Given the description of an element on the screen output the (x, y) to click on. 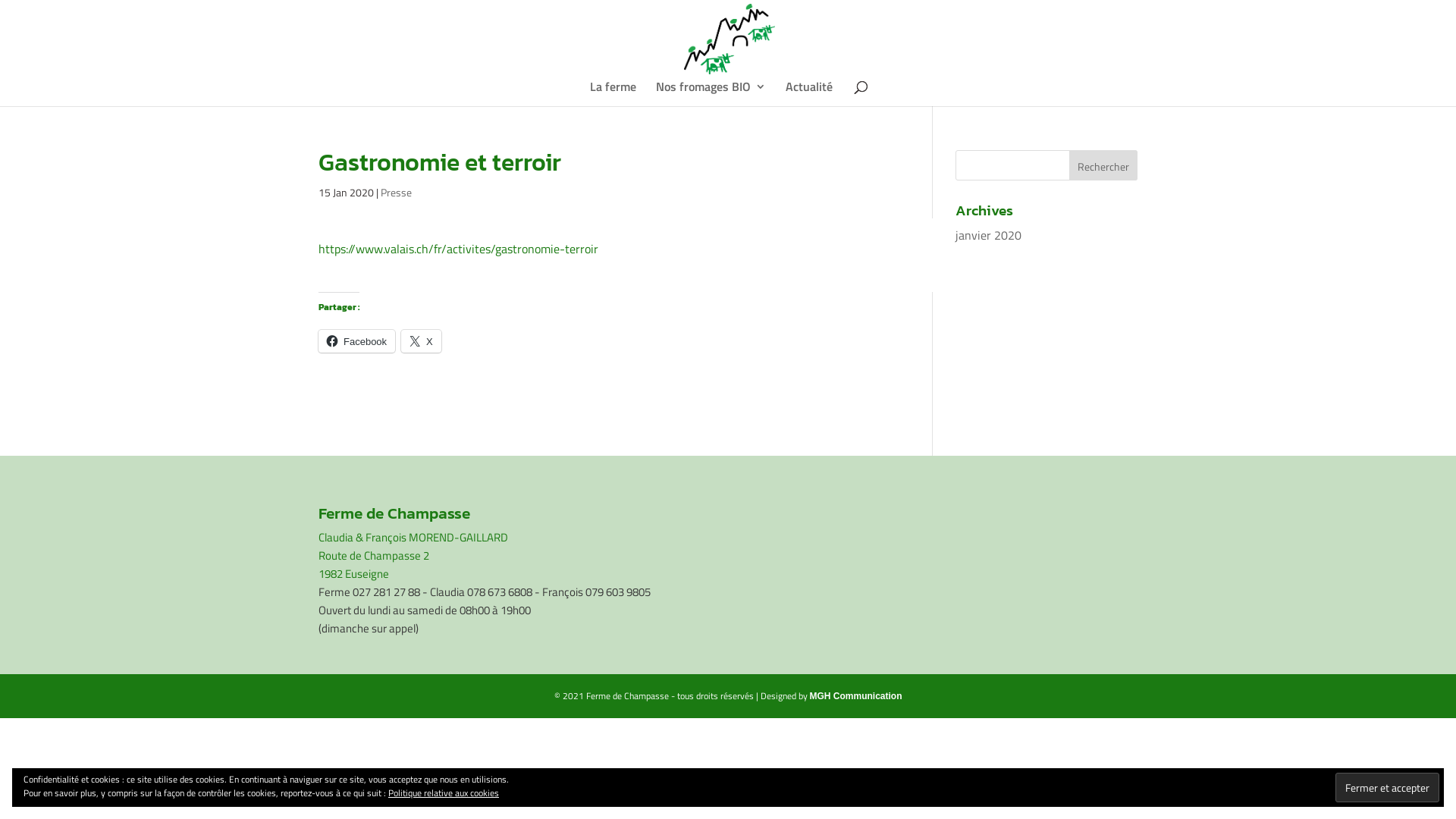
Facebook Element type: text (356, 340)
Fermer et accepter Element type: text (1387, 787)
Nos fromages BIO Element type: text (710, 93)
La ferme Element type: text (612, 93)
Presse Element type: text (395, 192)
MGH Communication Element type: text (855, 695)
Rechercher Element type: text (1103, 165)
Politique relative aux cookies Element type: text (443, 792)
janvier 2020 Element type: text (988, 234)
https://www.valais.ch/fr/activites/gastronomie-terroir Element type: text (458, 248)
X Element type: text (421, 340)
